Given the description of an element on the screen output the (x, y) to click on. 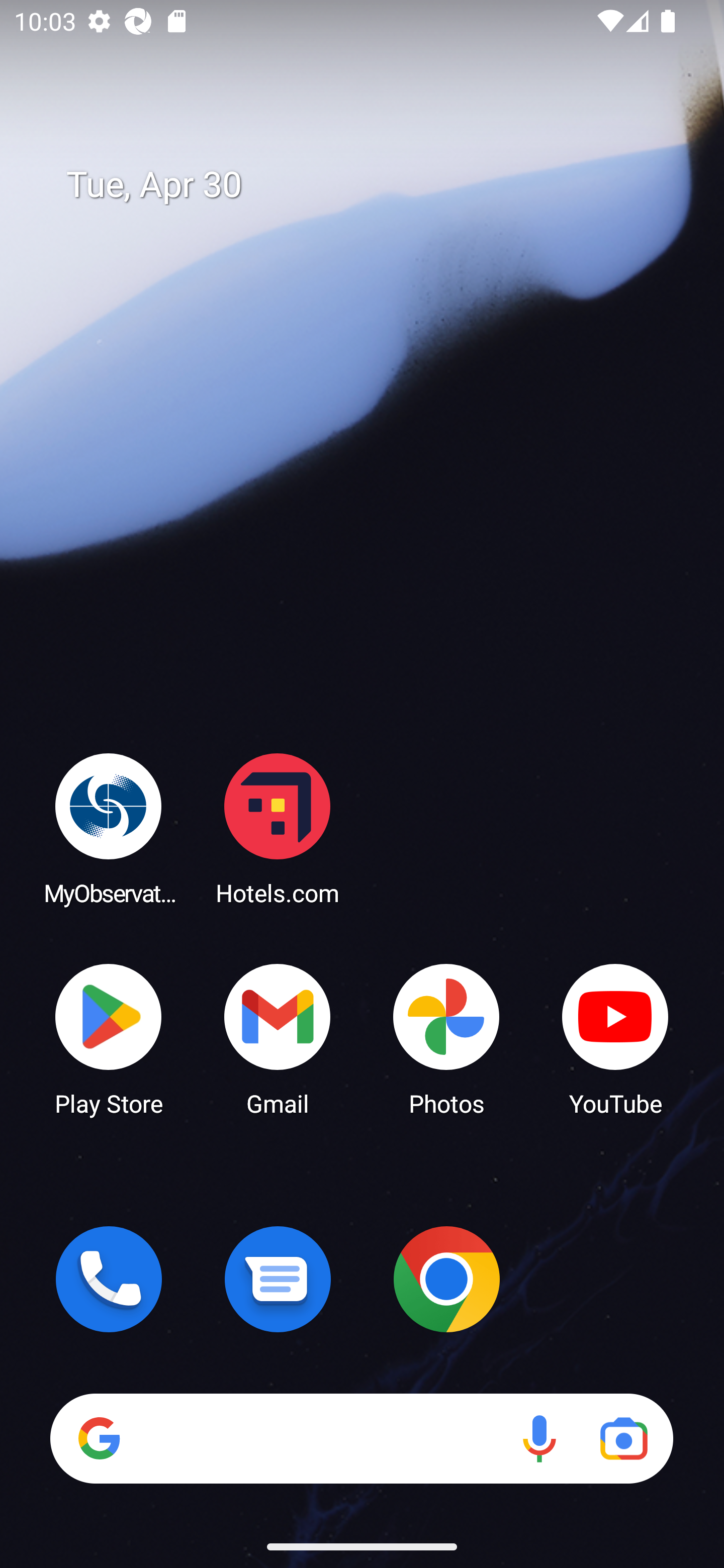
Tue, Apr 30 (375, 184)
MyObservatory (108, 828)
Hotels.com (277, 828)
Play Store (108, 1038)
Gmail (277, 1038)
Photos (445, 1038)
YouTube (615, 1038)
Phone (108, 1279)
Messages (277, 1279)
Chrome (446, 1279)
Search Voice search Google Lens (361, 1438)
Voice search (539, 1438)
Google Lens (623, 1438)
